Given the description of an element on the screen output the (x, y) to click on. 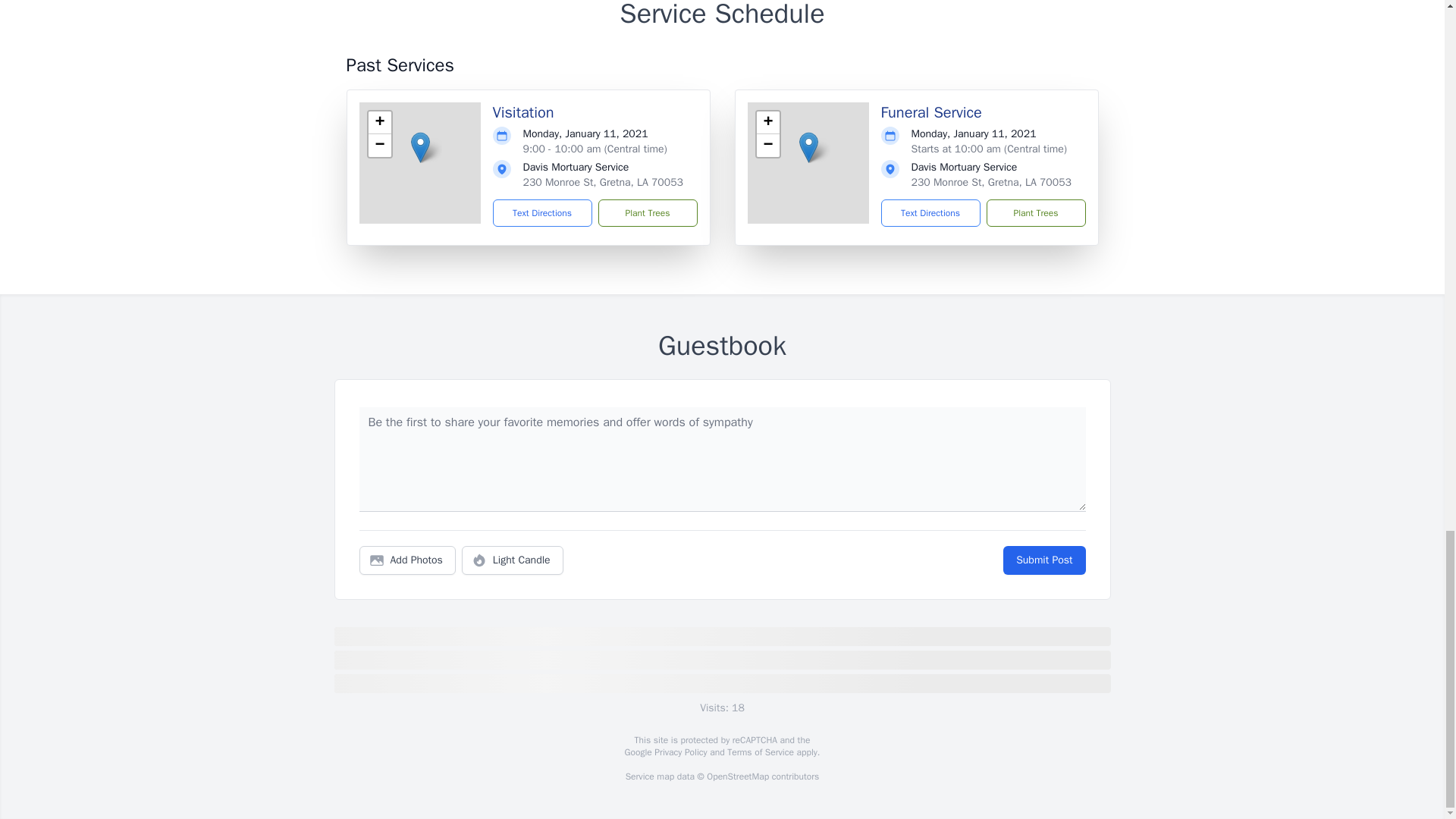
Text Directions (542, 212)
230 Monroe St, Gretna, LA 70053 (991, 182)
Zoom out (379, 145)
Zoom out (767, 145)
Zoom in (379, 122)
Plant Trees (646, 212)
Submit Post (1043, 560)
230 Monroe St, Gretna, LA 70053 (602, 182)
Text Directions (929, 212)
Privacy Policy (679, 752)
Plant Trees (1034, 212)
Light Candle (512, 560)
Add Photos (407, 560)
Zoom in (767, 122)
